Given the description of an element on the screen output the (x, y) to click on. 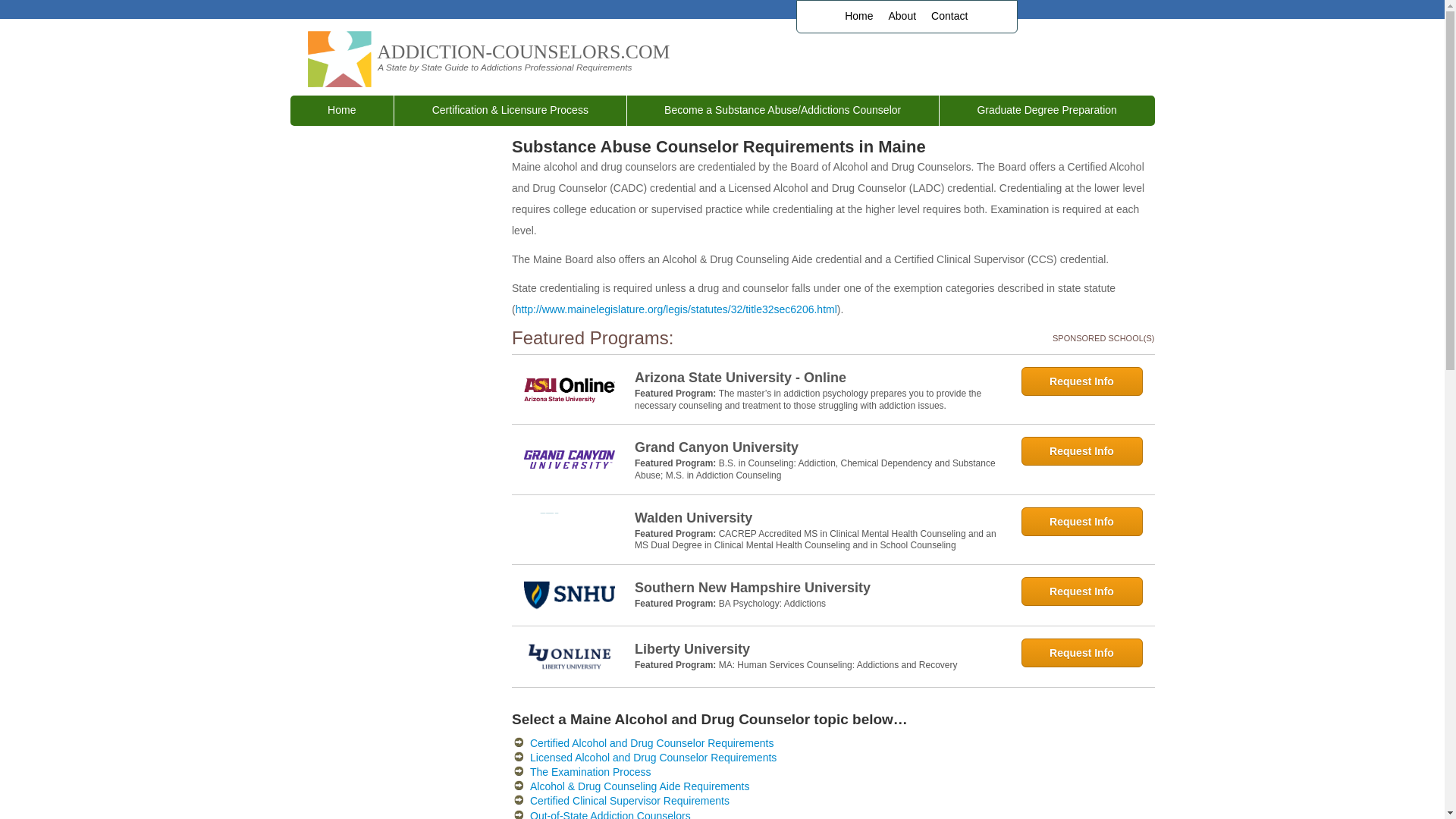
Arizona State University - Online (817, 377)
Graduate Degree Preparation (1046, 110)
Southern New Hampshire University (817, 587)
Request Info (1080, 652)
Request Info (1080, 591)
Home (858, 16)
Certified Alcohol and Drug Counselor Requirements (651, 743)
Grand Canyon University (817, 446)
Request Info (1080, 451)
Contact (949, 16)
Walden University (817, 517)
Liberty University (817, 649)
Licensed Alcohol and Drug Counselor Requirements (652, 757)
MA: Human Services Counseling: Addictions and Recovery (838, 665)
